Given the description of an element on the screen output the (x, y) to click on. 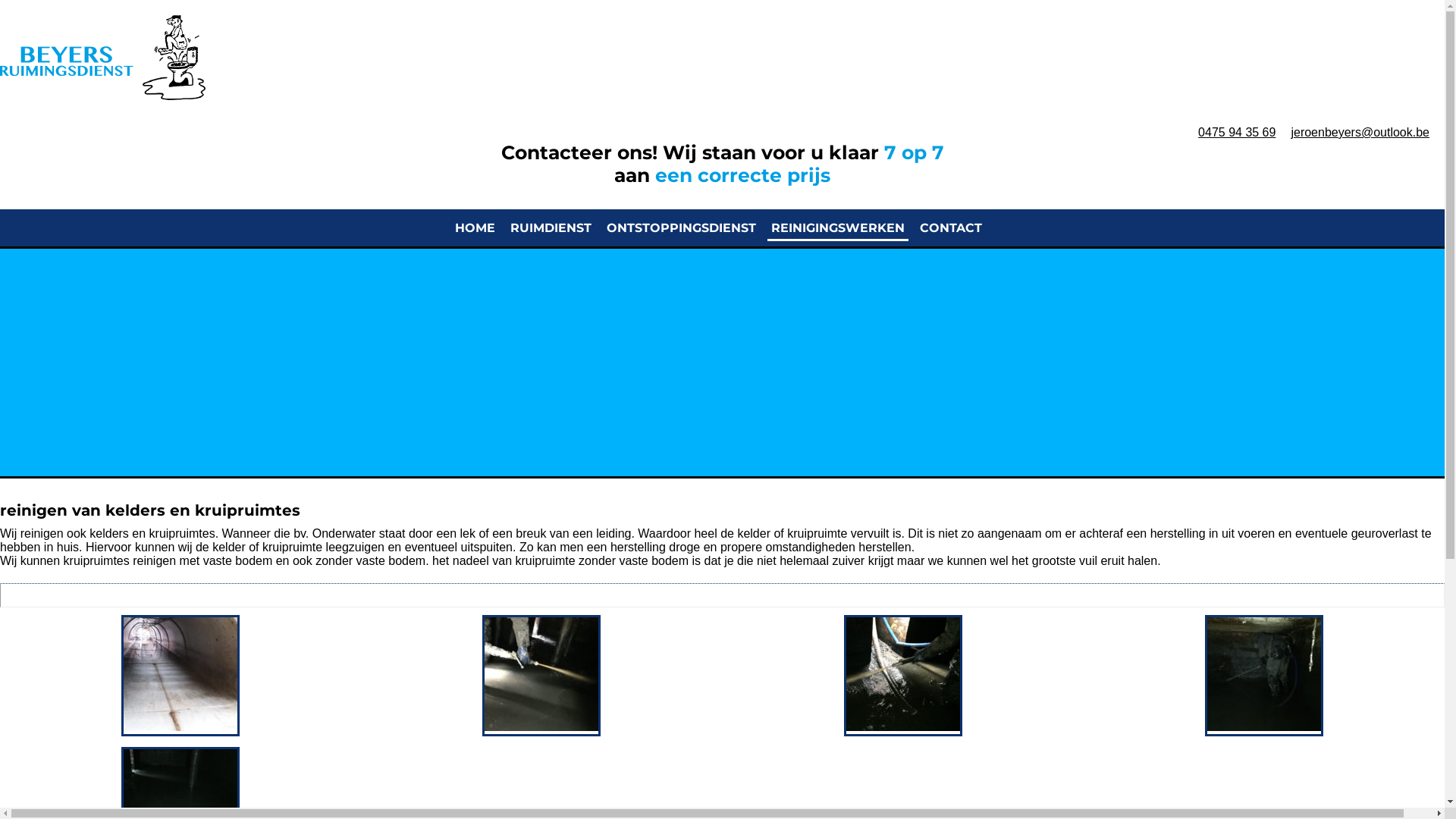
kruipruimtes Element type: text (182, 533)
kruipruimte Element type: text (545, 560)
0475 94 35 69 Element type: text (1236, 131)
REINIGINGSWERKEN Element type: text (837, 228)
ONTSTOPPINGSDIENST Element type: text (680, 228)
kruipruimte Element type: text (292, 546)
jeroenbeyers@outlook.be Element type: text (1359, 131)
RUIMDIENST Element type: text (550, 228)
CONTACT Element type: text (950, 228)
HOME Element type: text (474, 228)
